Given the description of an element on the screen output the (x, y) to click on. 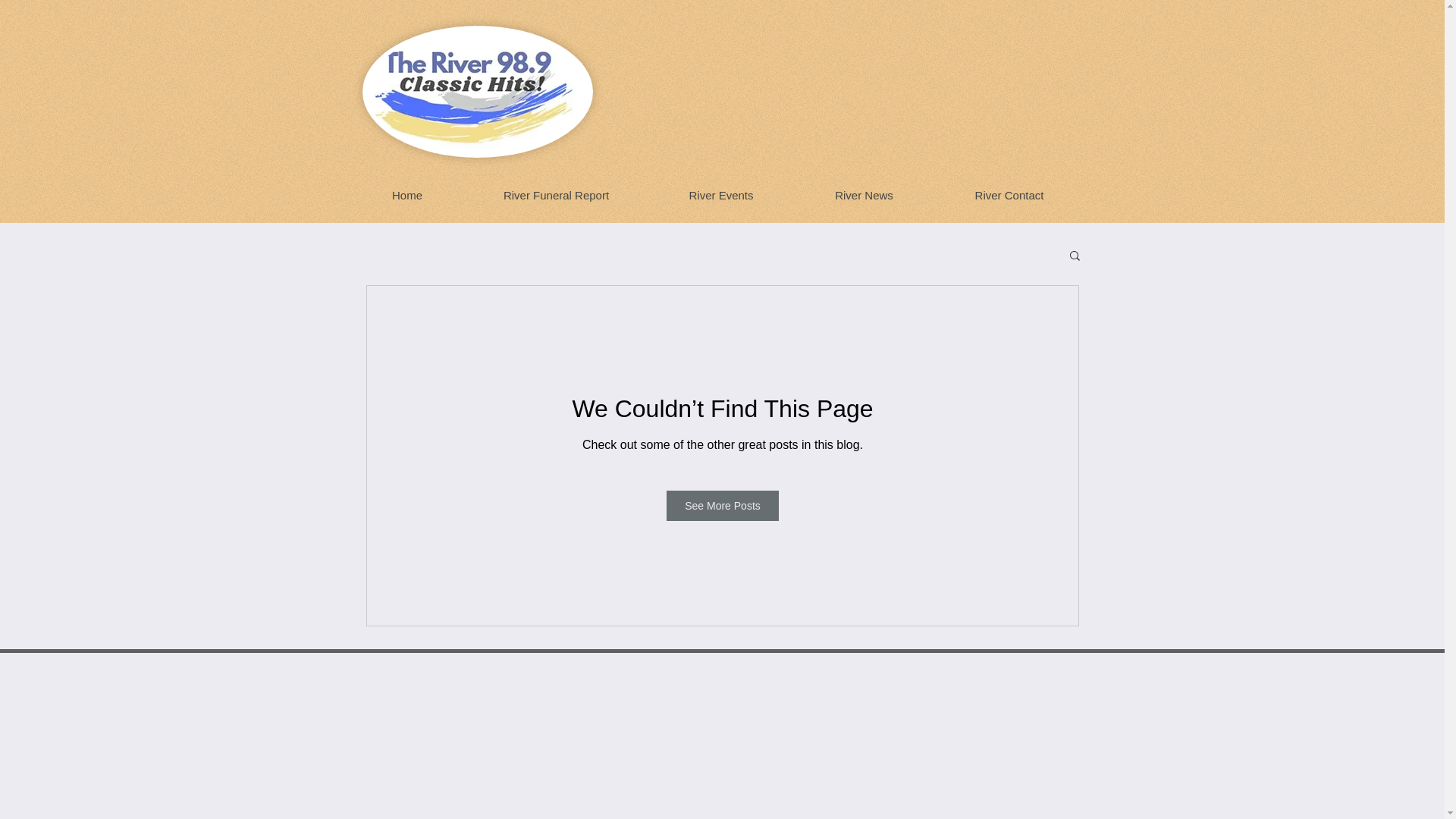
Home (406, 195)
River Funeral Report (555, 195)
River Events (720, 195)
See More Posts (722, 505)
River Contact (1009, 195)
River News (863, 195)
